Given the description of an element on the screen output the (x, y) to click on. 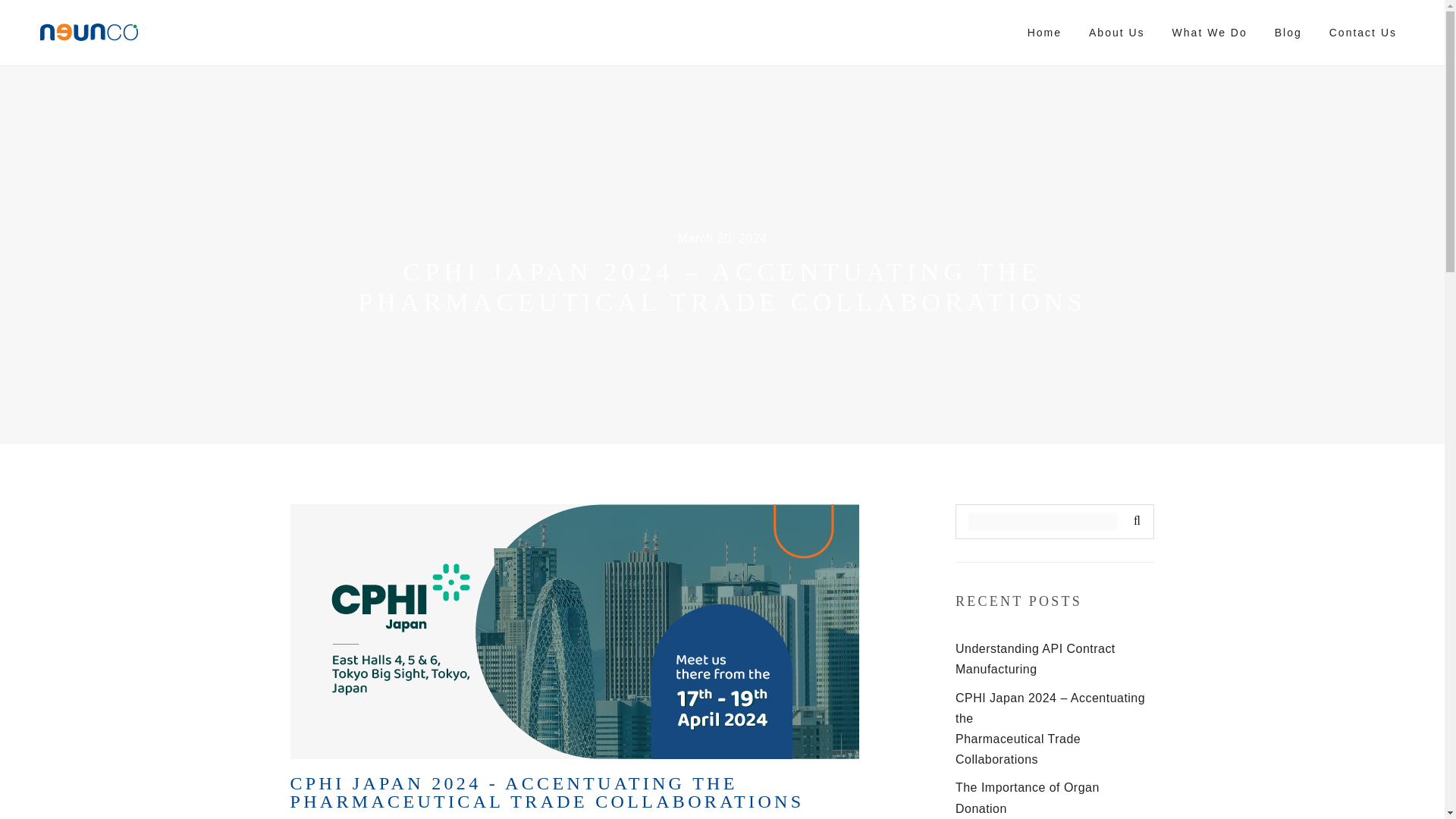
Contact Us (1363, 32)
Search (1134, 521)
What We Do (1209, 32)
Search (1134, 521)
The Importance of Organ Donation (1027, 797)
Home (1044, 32)
Neunco (88, 32)
About Us (1116, 32)
Blog (1288, 32)
Understanding API Contract Manufacturing (1035, 658)
